Given the description of an element on the screen output the (x, y) to click on. 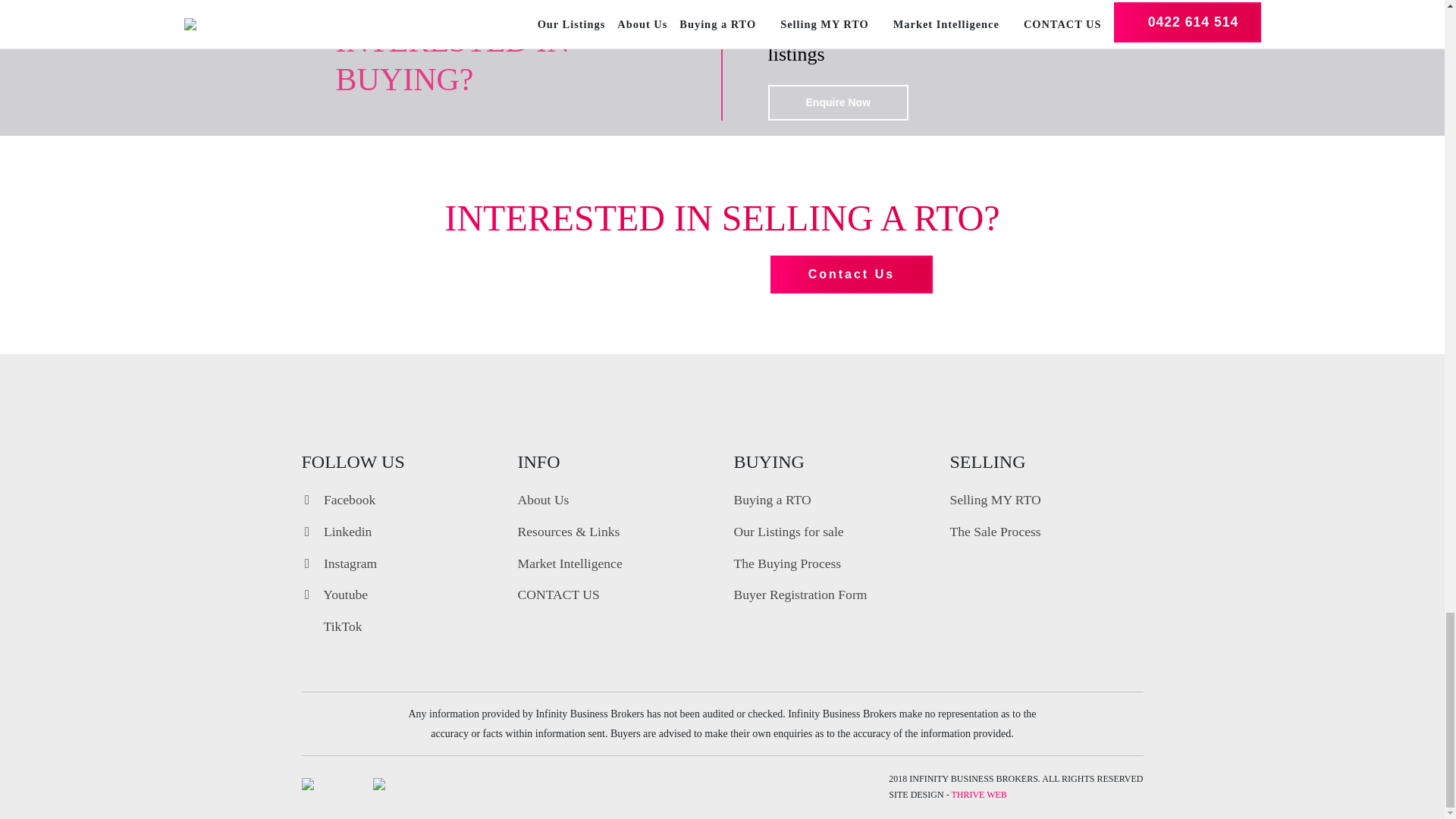
CONTACT US (557, 594)
Instagram (339, 562)
Our Listings for sale (788, 531)
Youtube (334, 594)
TikTok (331, 626)
Market Intelligence (568, 562)
About Us (542, 499)
Buying a RTO (771, 499)
Linkedin (336, 531)
Facebook (338, 499)
Contact Us (851, 274)
Enquire Now (837, 102)
Enquire Now (837, 102)
Contact Us (851, 274)
